Given the description of an element on the screen output the (x, y) to click on. 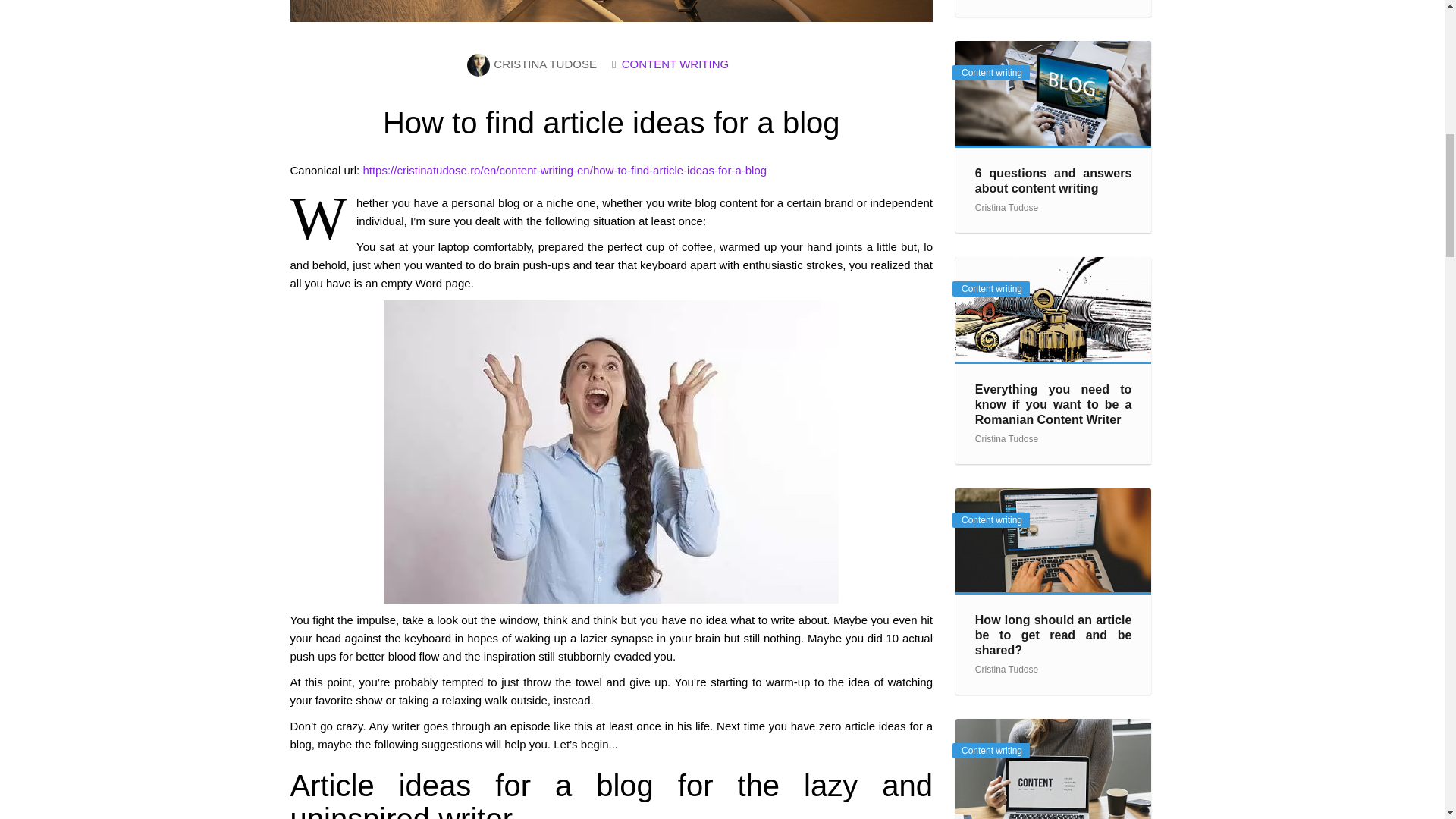
How long should an article be to get read and be shared? (1053, 540)
How long should an article be to get read and be shared? (1053, 634)
CONTENT WRITING (675, 63)
6 questions and answers about content writing (1053, 92)
6 questions and answers about content writing (1053, 180)
